Given the description of an element on the screen output the (x, y) to click on. 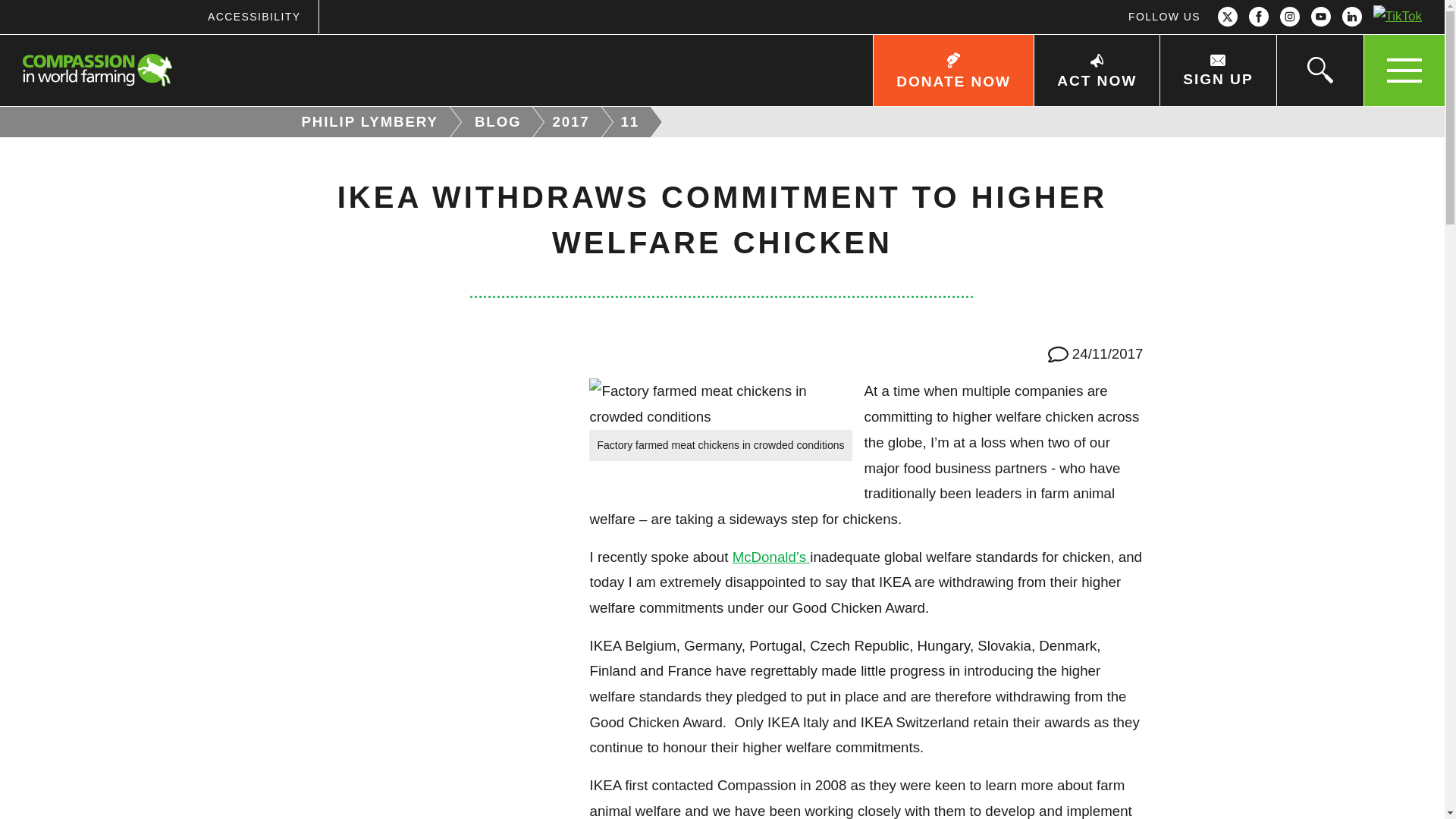
TikTok (1397, 16)
2017 (571, 122)
LinkedIn (1351, 16)
DONATE NOW (952, 70)
Skip to Content (773, 1)
BLOG (499, 122)
SIGN UP (1216, 70)
Instagram (1289, 16)
ACT NOW (1095, 70)
11 (632, 122)
